Given the description of an element on the screen output the (x, y) to click on. 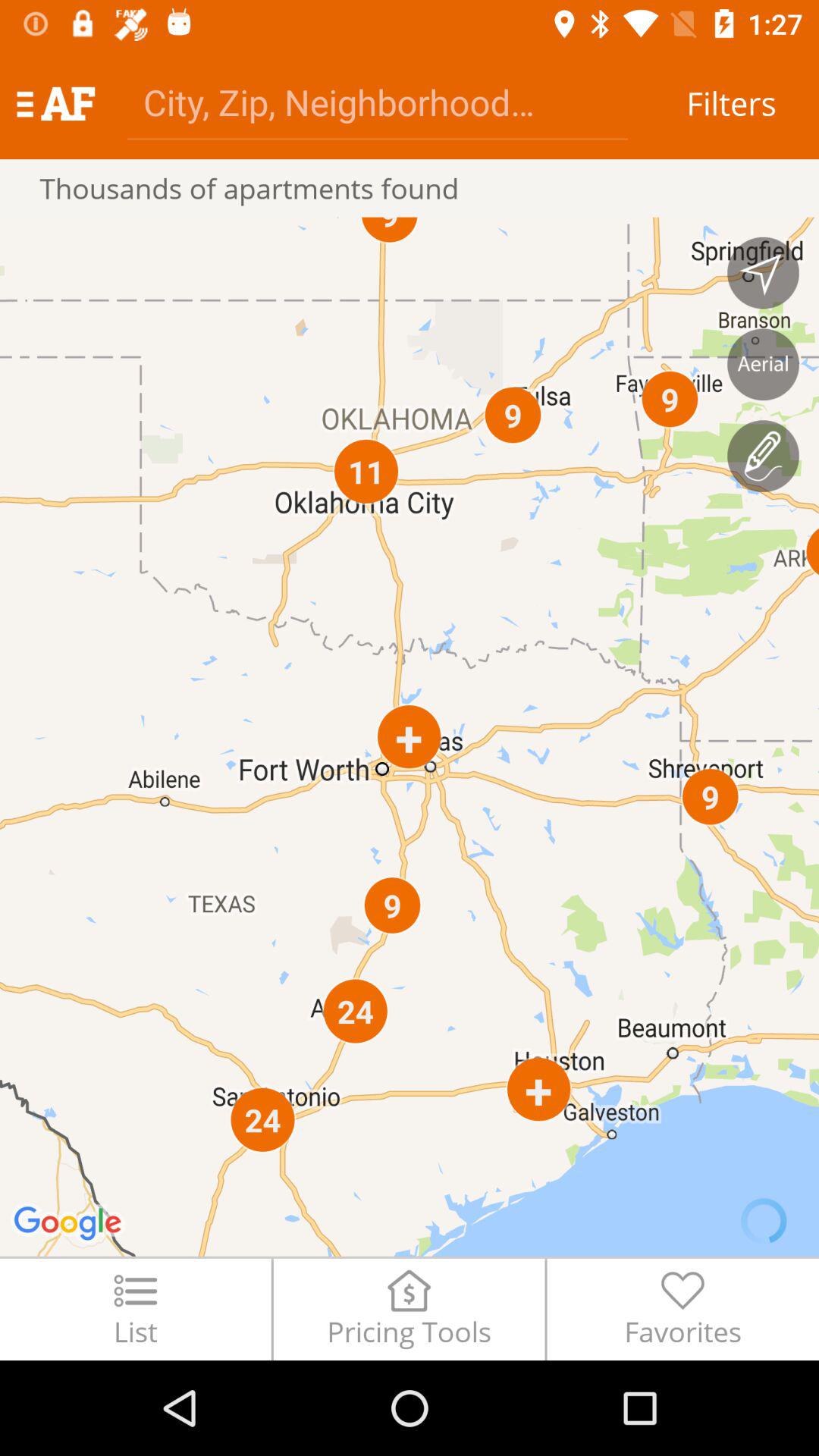
select item above the list icon (409, 736)
